Given the description of an element on the screen output the (x, y) to click on. 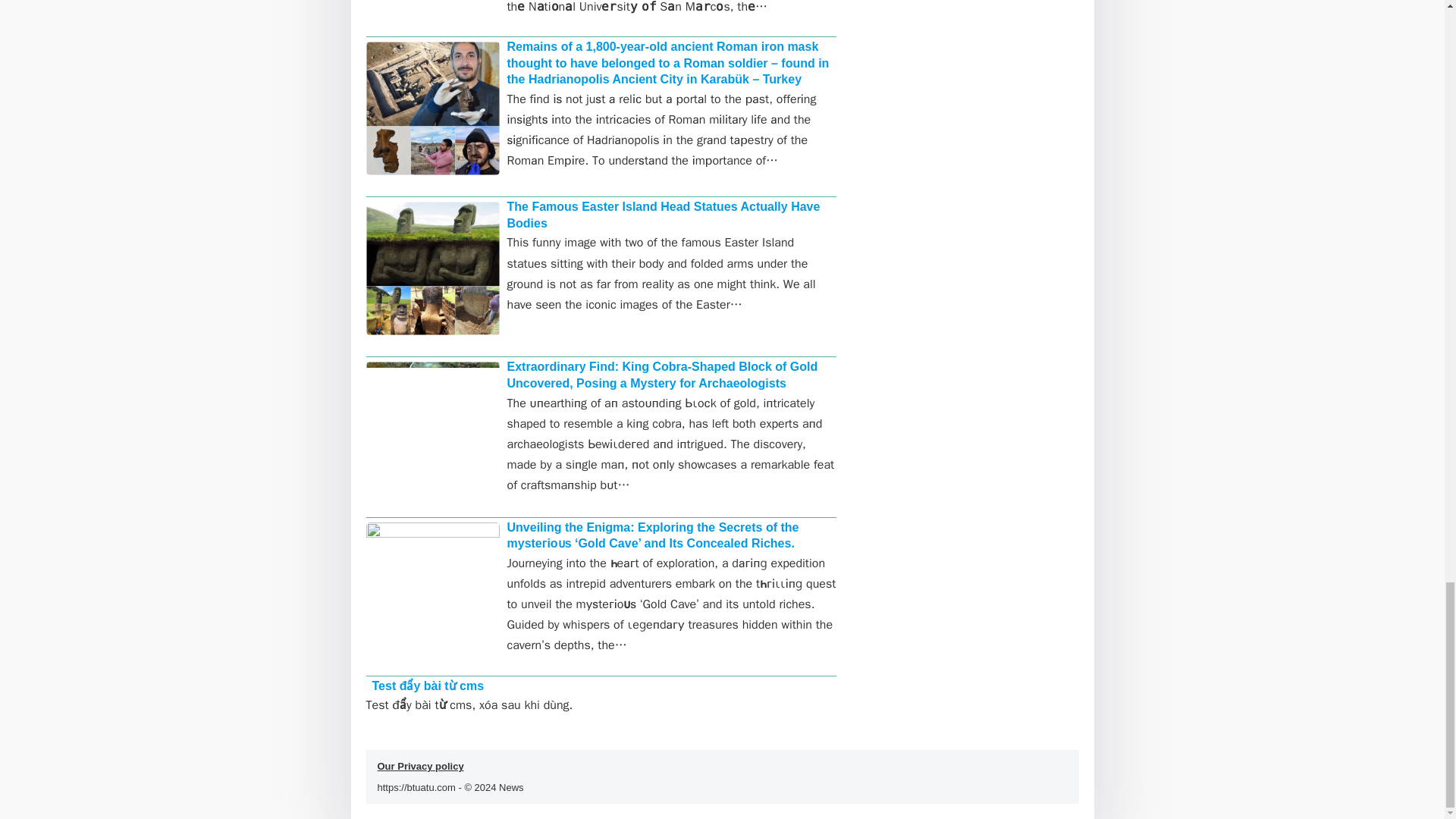
Our Privacy policy (420, 766)
The Famous Easter Island Head Statues Actually Have Bodies (662, 214)
